Given the description of an element on the screen output the (x, y) to click on. 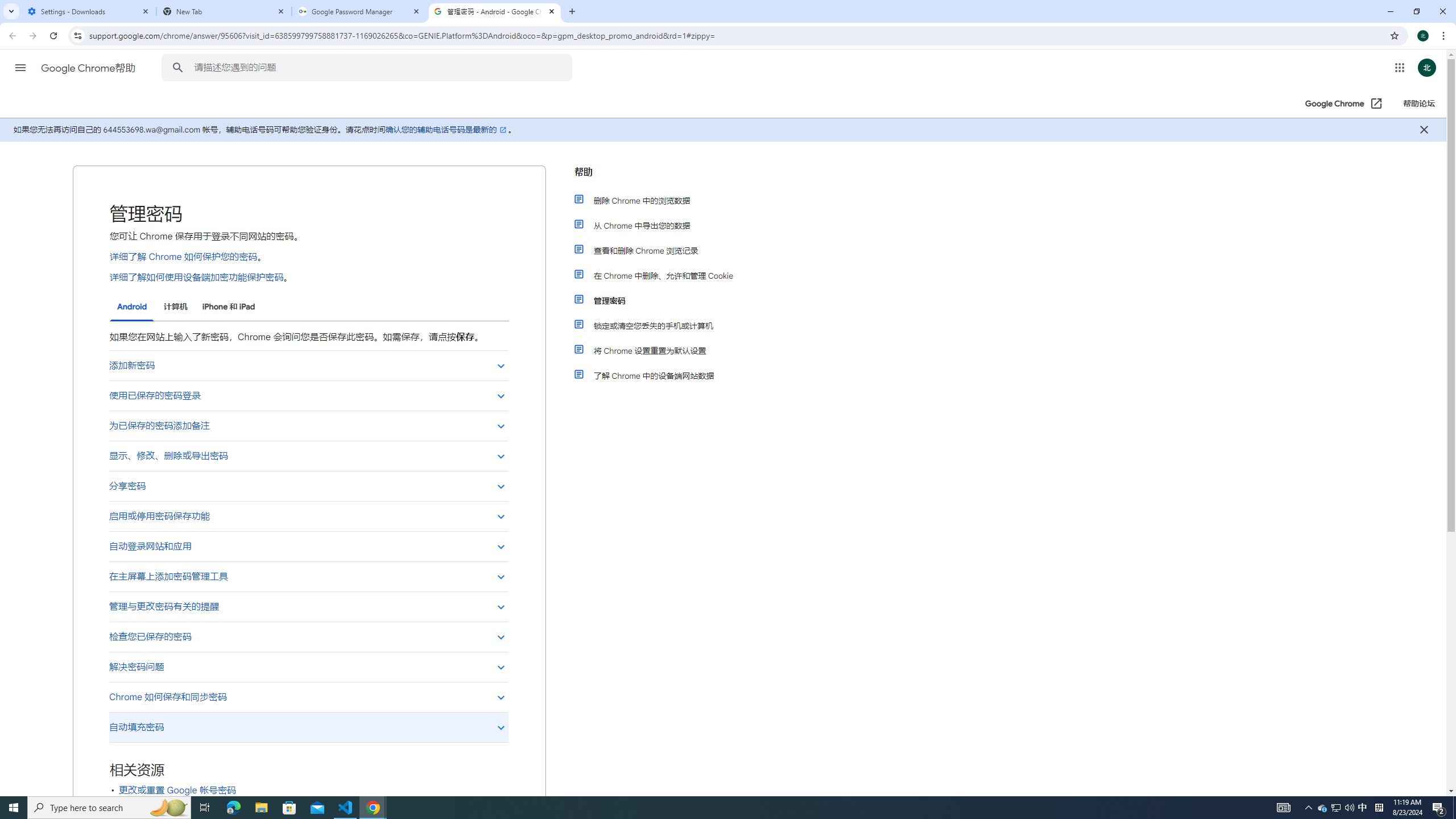
Settings - Downloads (88, 11)
Google Password Manager (359, 11)
